Given the description of an element on the screen output the (x, y) to click on. 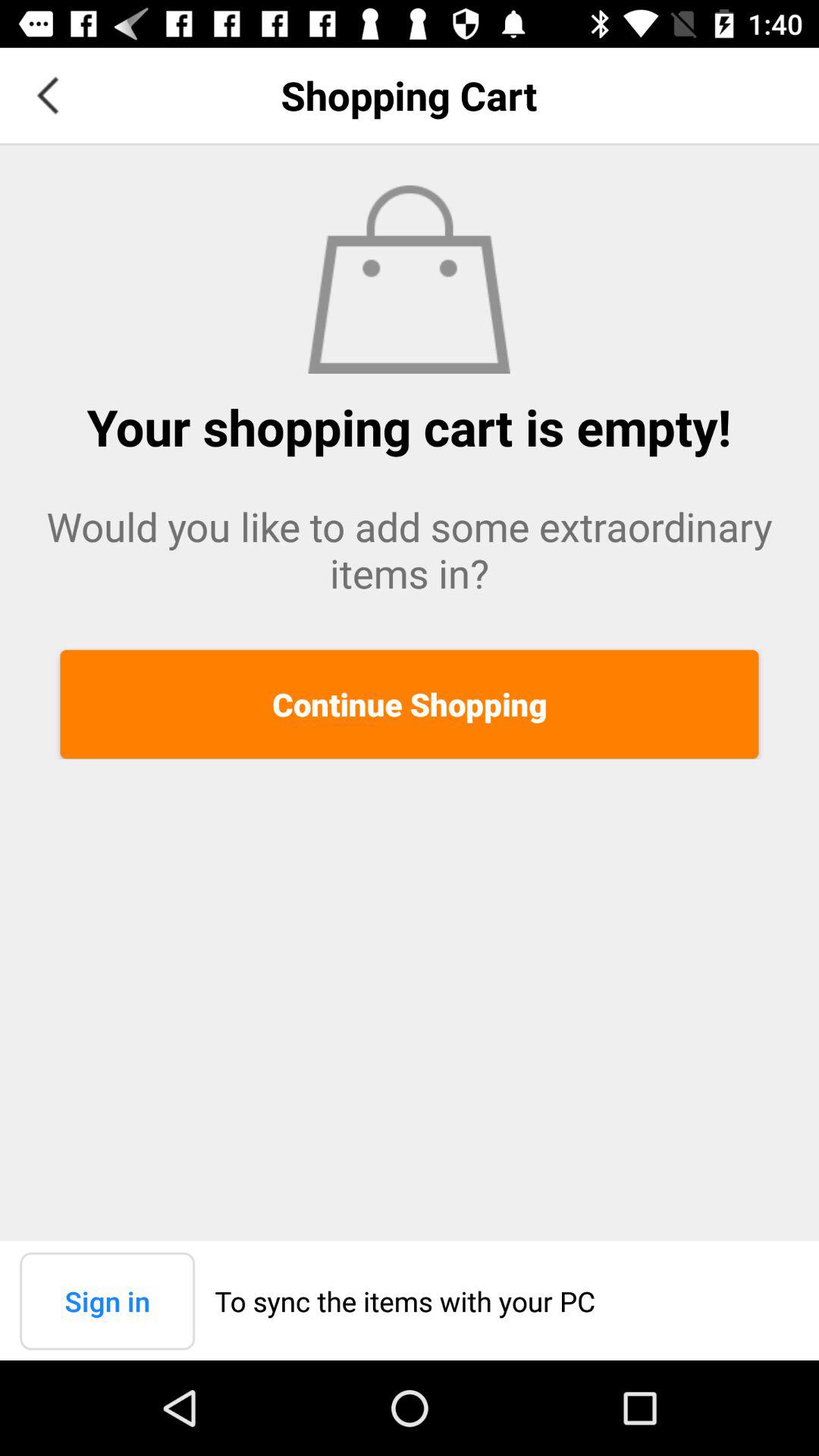
launch the button above the sign in icon (409, 704)
